Given the description of an element on the screen output the (x, y) to click on. 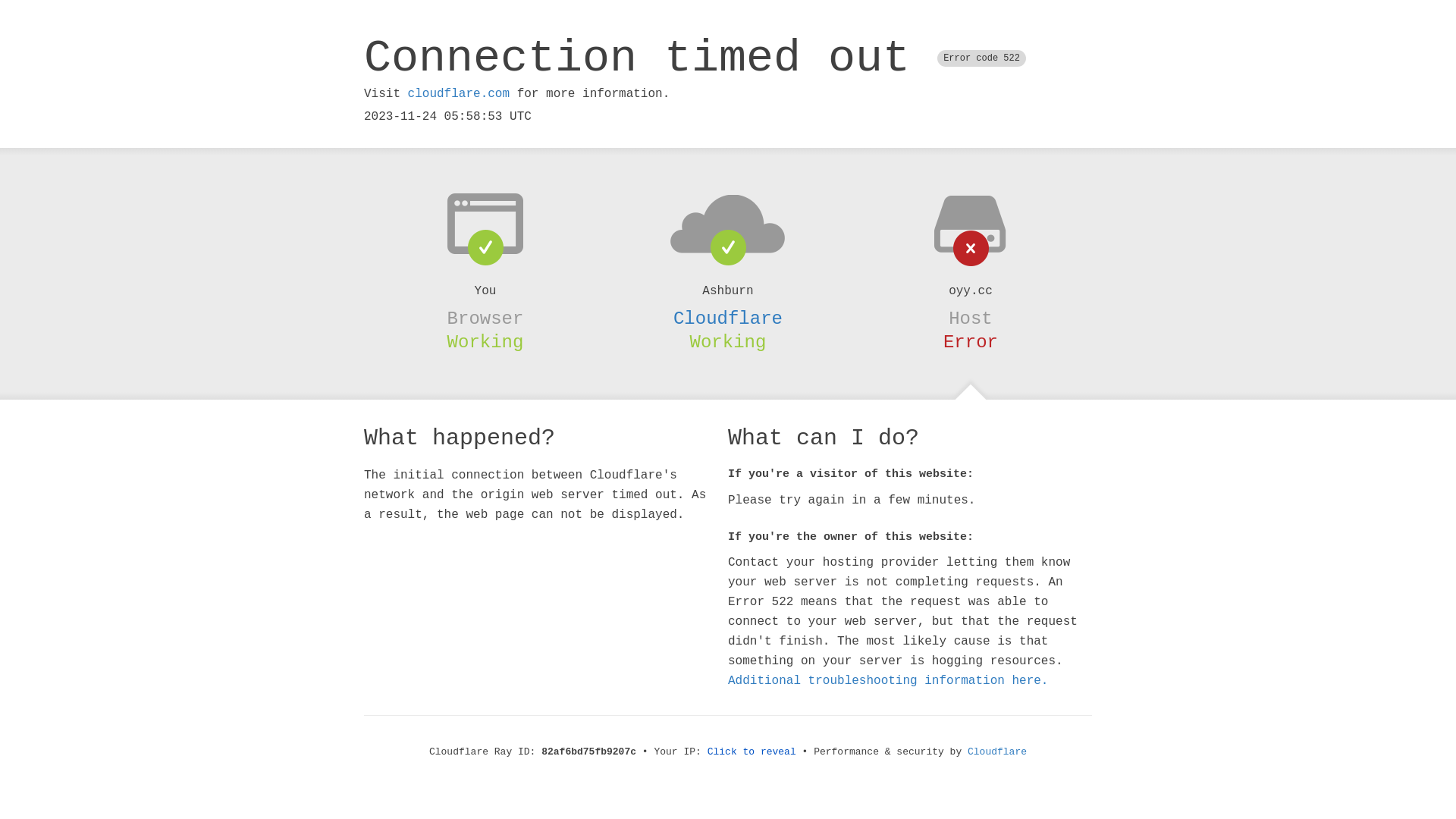
Additional troubleshooting information here. Element type: text (888, 680)
Click to reveal Element type: text (751, 751)
Cloudflare Element type: text (996, 751)
cloudflare.com Element type: text (458, 93)
Cloudflare Element type: text (727, 318)
